Given the description of an element on the screen output the (x, y) to click on. 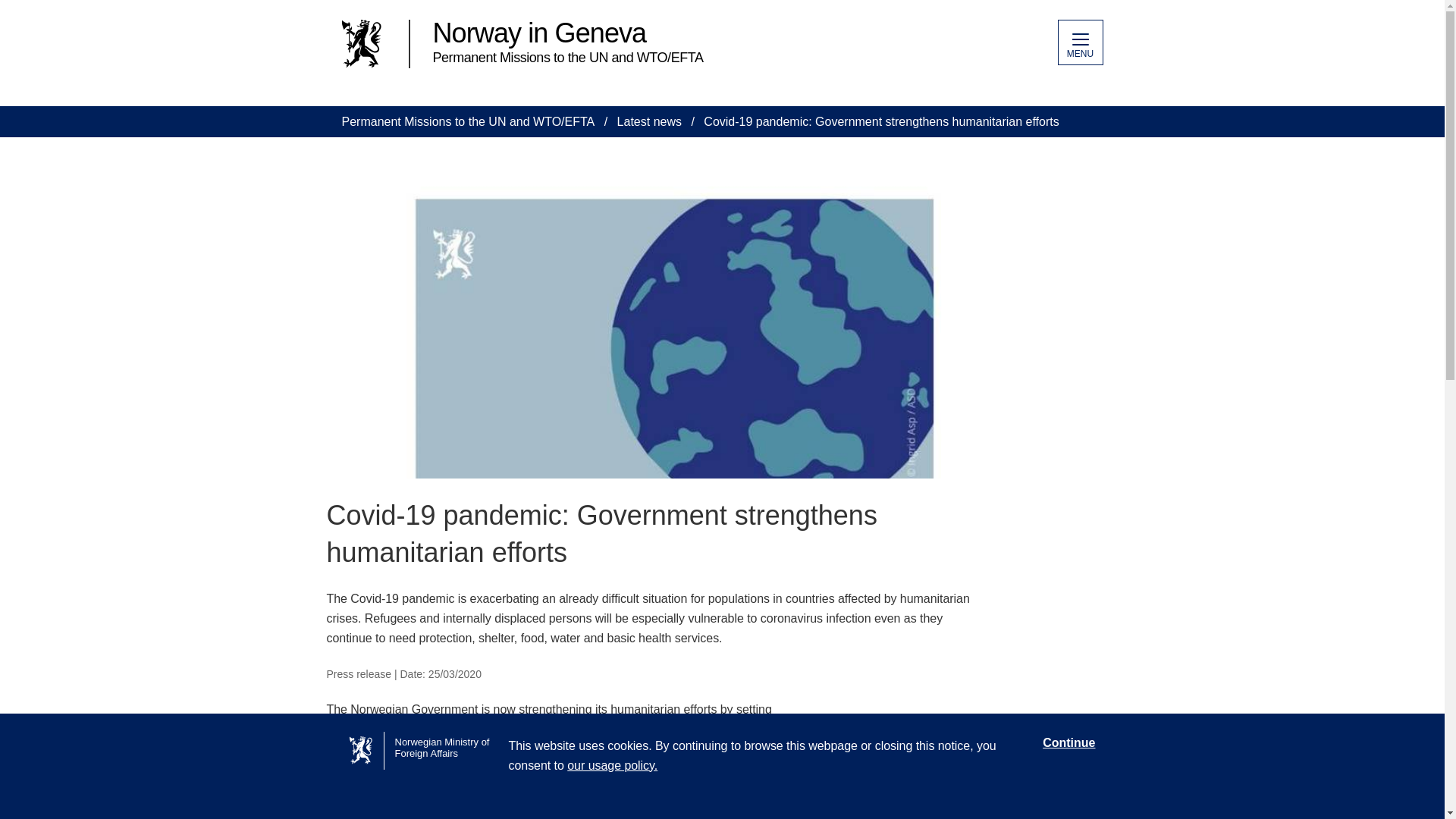
MENU (1079, 42)
Continue (1068, 743)
Latest news (649, 121)
our usage policy. (612, 765)
Latest news (649, 121)
